Given the description of an element on the screen output the (x, y) to click on. 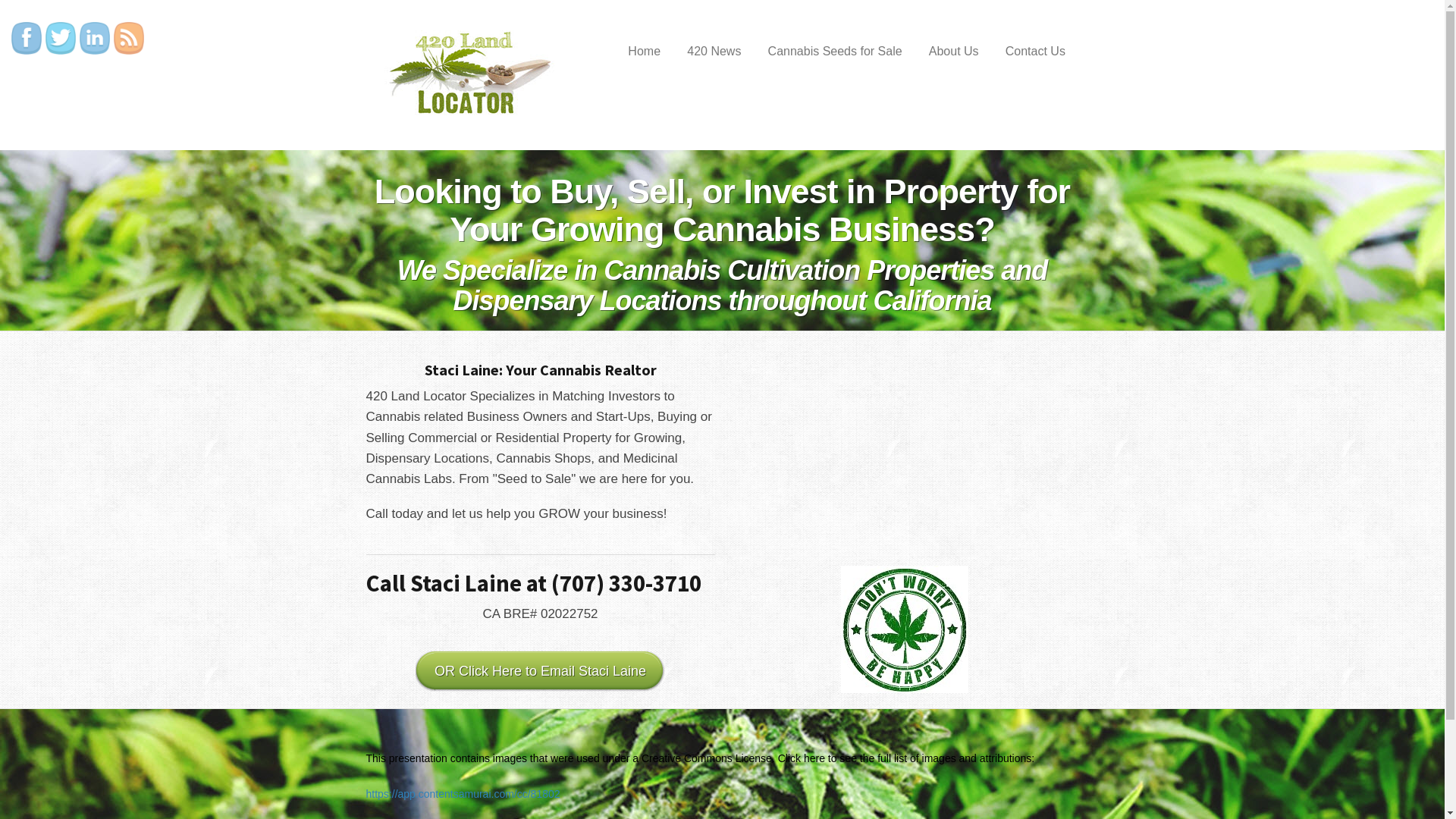
Cannabis Seeds for Sale Element type: text (834, 51)
https://app.contentsamurai.com/cc/81802 Element type: text (462, 793)
LinkedIn Element type: hover (94, 37)
RSS Element type: hover (128, 37)
About Us Element type: text (953, 51)
420 News Element type: text (714, 51)
Facebook Element type: hover (26, 37)
Twitter Element type: hover (60, 37)
Home Element type: text (644, 51)
420 Land Locator Element type: hover (460, 72)
Contact Us Element type: text (1034, 51)
OR Click Here to Email Staci Laine Element type: text (540, 670)
